Given the description of an element on the screen output the (x, y) to click on. 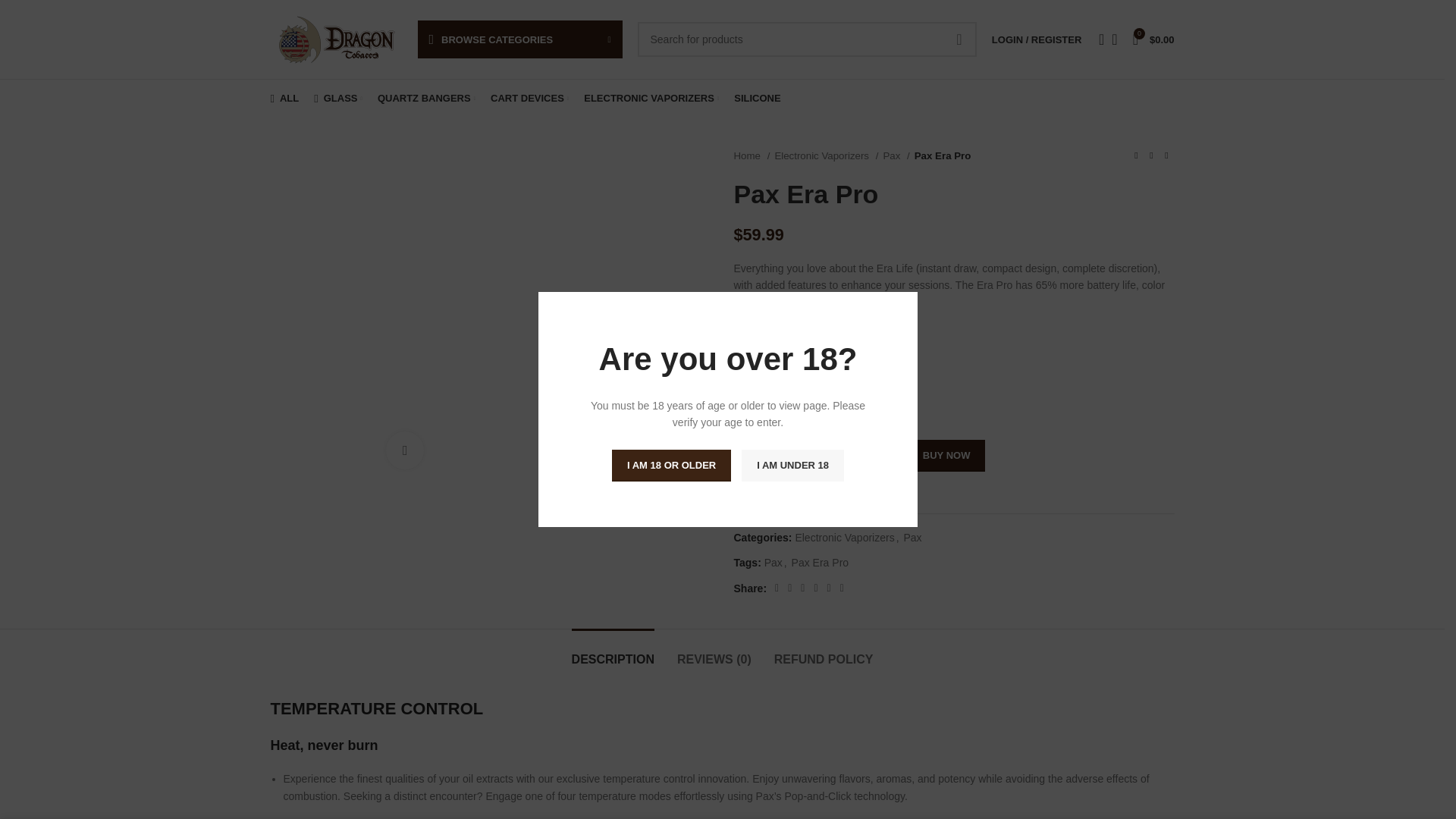
I AM 18 OR OLDER (670, 465)
Shopping cart (1153, 39)
Search for products (806, 39)
My account (1036, 39)
I AM UNDER 18 (792, 465)
